Given the description of an element on the screen output the (x, y) to click on. 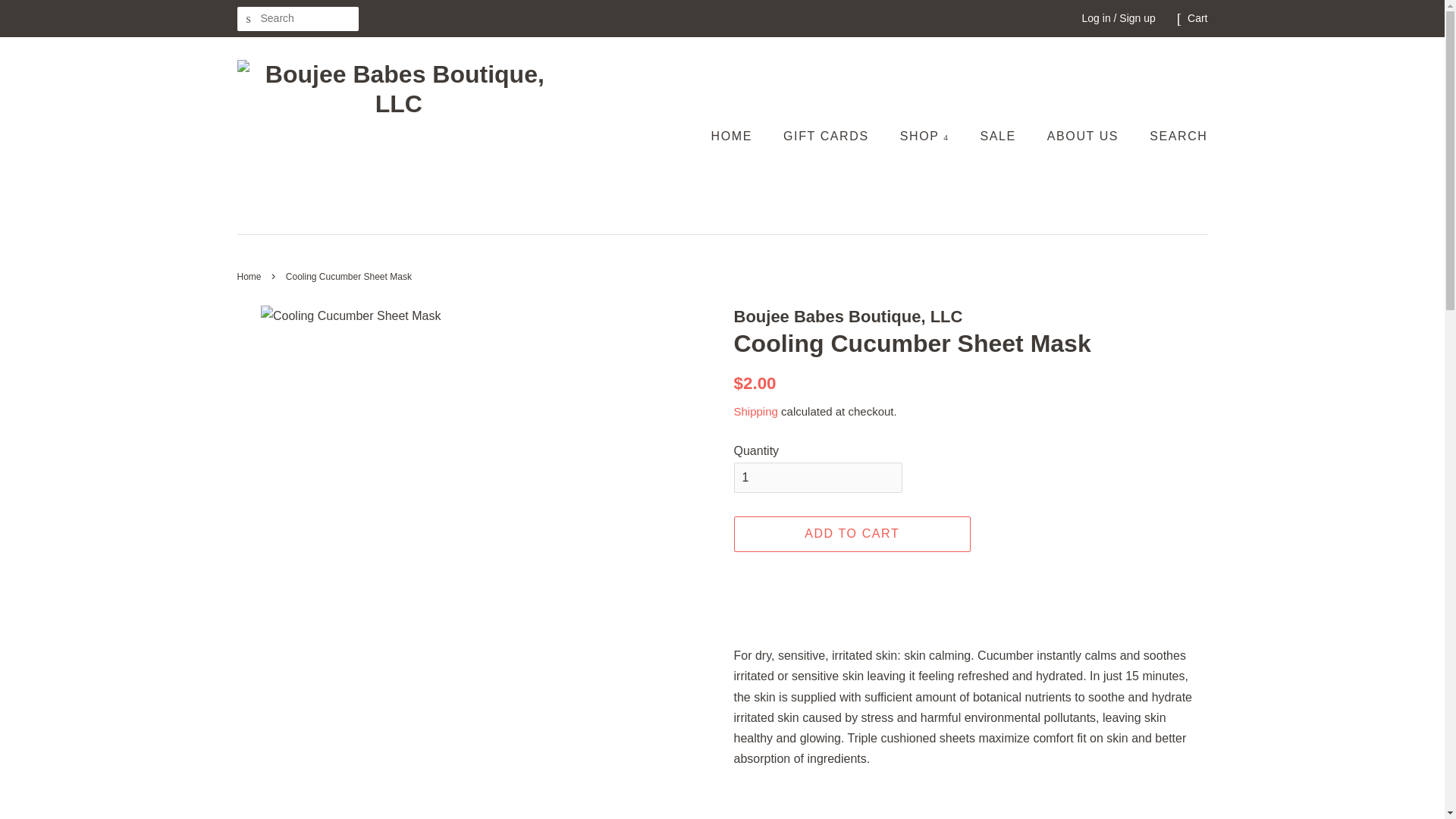
Log in (1095, 18)
Sign up (1136, 18)
Back to the frontpage (249, 276)
SEARCH (247, 18)
1 (817, 477)
Cart (1197, 18)
